Given the description of an element on the screen output the (x, y) to click on. 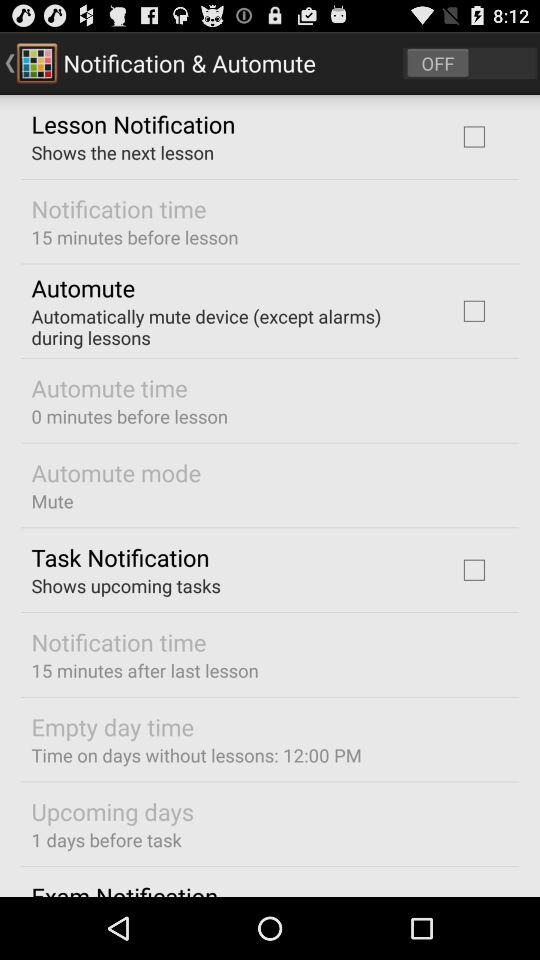
tap the 1 days before icon (106, 839)
